Given the description of an element on the screen output the (x, y) to click on. 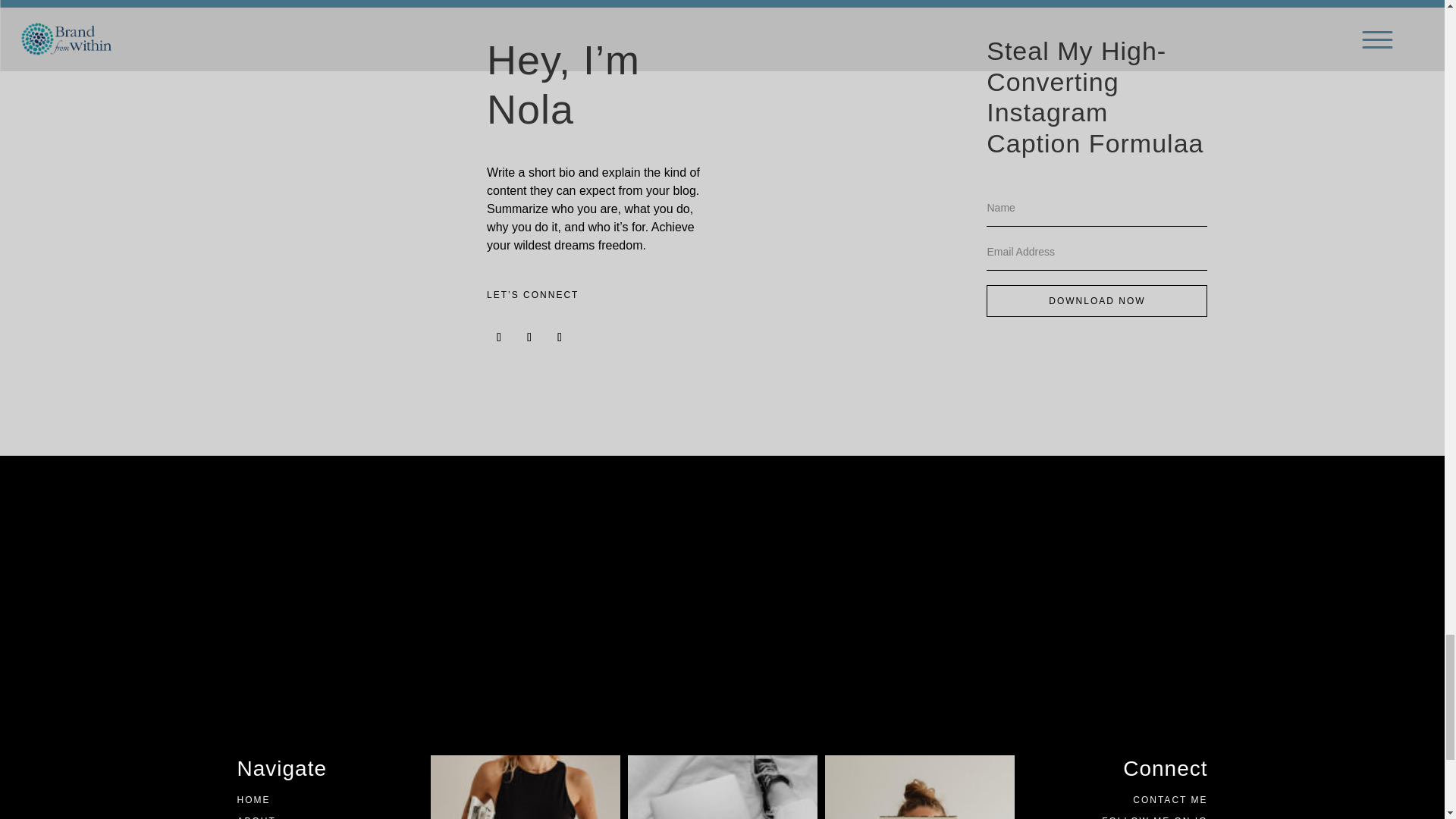
Follow on Mail (559, 337)
Follow on Instagram (498, 337)
DOWNLOAD NOW (1097, 300)
Follow on Facebook (528, 337)
